Given the description of an element on the screen output the (x, y) to click on. 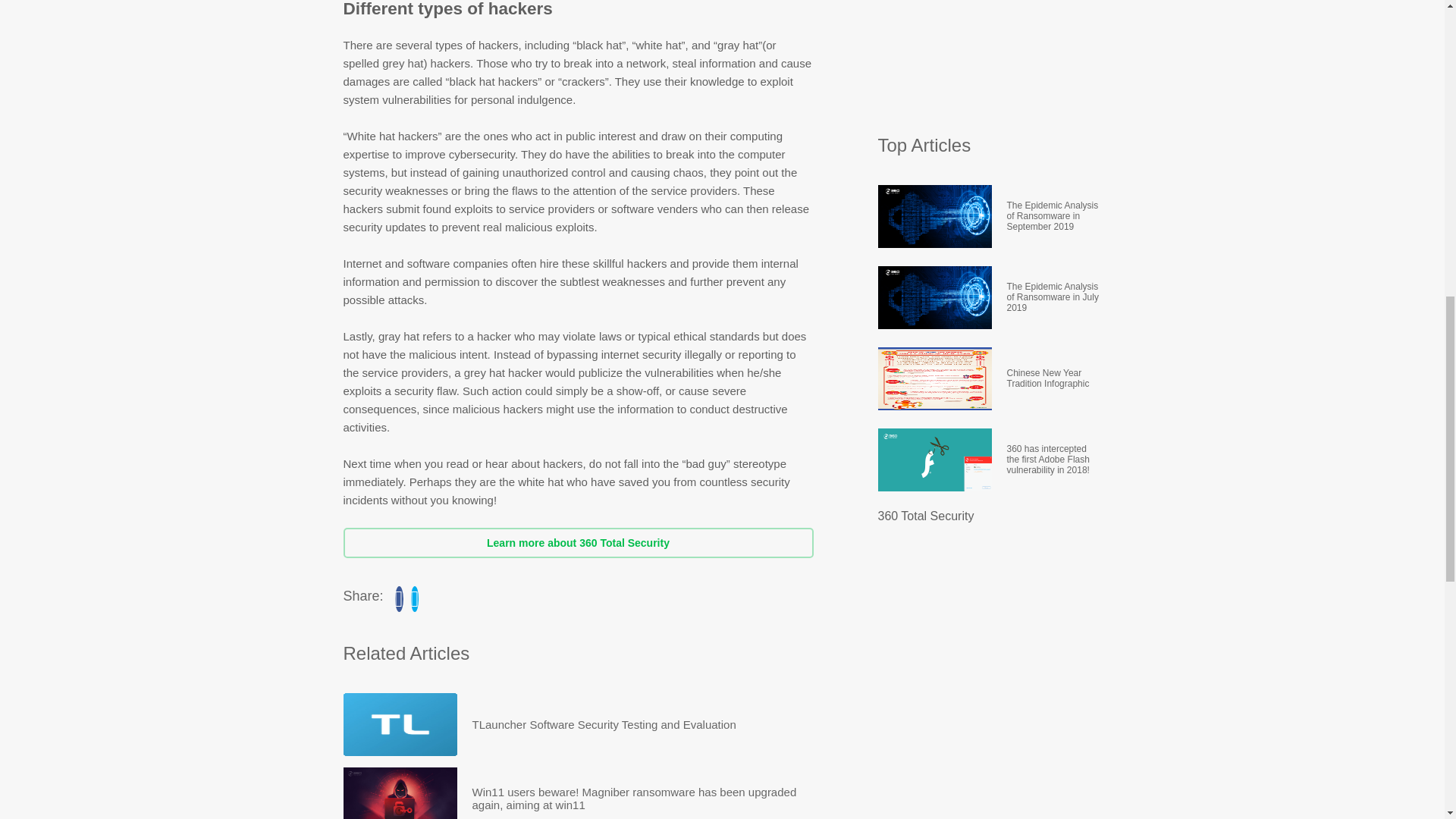
TLauncher Software Security Testing and Evaluation (603, 723)
Chinese New Year Tradition Infographic (1054, 378)
Advertisement (991, 58)
The Epidemic Analysis of Ransomware in July 2019 (1054, 296)
TLauncher Software Security Testing and Evaluation (603, 723)
The Epidemic Analysis of Ransomware in July 2019 (1054, 296)
Learn more about 360 Total Security (577, 542)
The Epidemic Analysis of Ransomware in September 2019 (1054, 216)
360 Total Security (925, 515)
The Epidemic Analysis of Ransomware in September 2019 (1054, 216)
Chinese New Year Tradition Infographic (1054, 378)
